Given the description of an element on the screen output the (x, y) to click on. 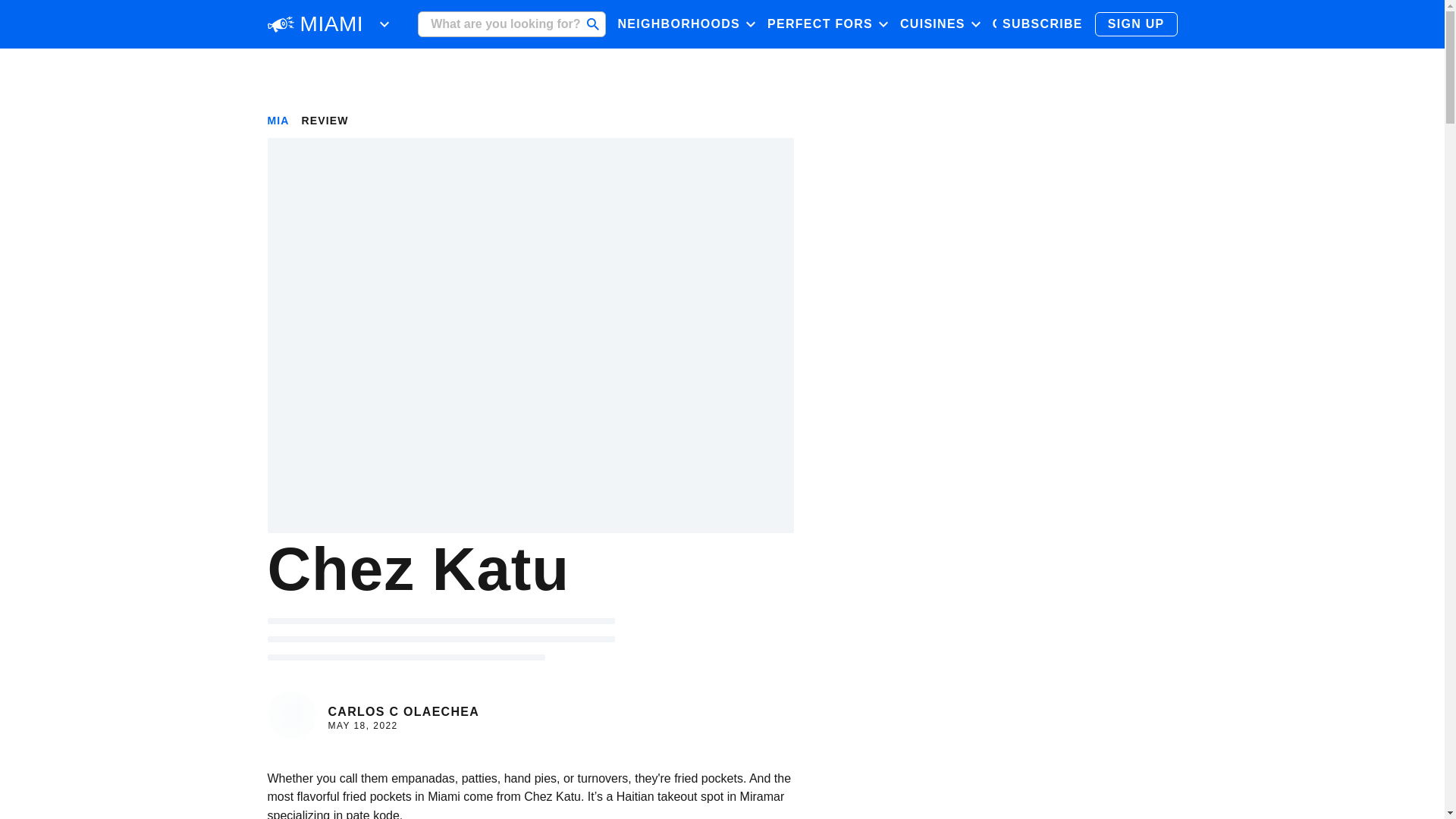
SIGN UP (1135, 24)
NEIGHBORHOODS (686, 24)
SUBSCRIBE (1042, 24)
REVIEWS (1088, 24)
What are you looking for? (511, 23)
CUISINES (940, 24)
MIA (277, 120)
MIAMI (331, 23)
PERFECT FORS (827, 24)
GUIDES (1019, 24)
